Given the description of an element on the screen output the (x, y) to click on. 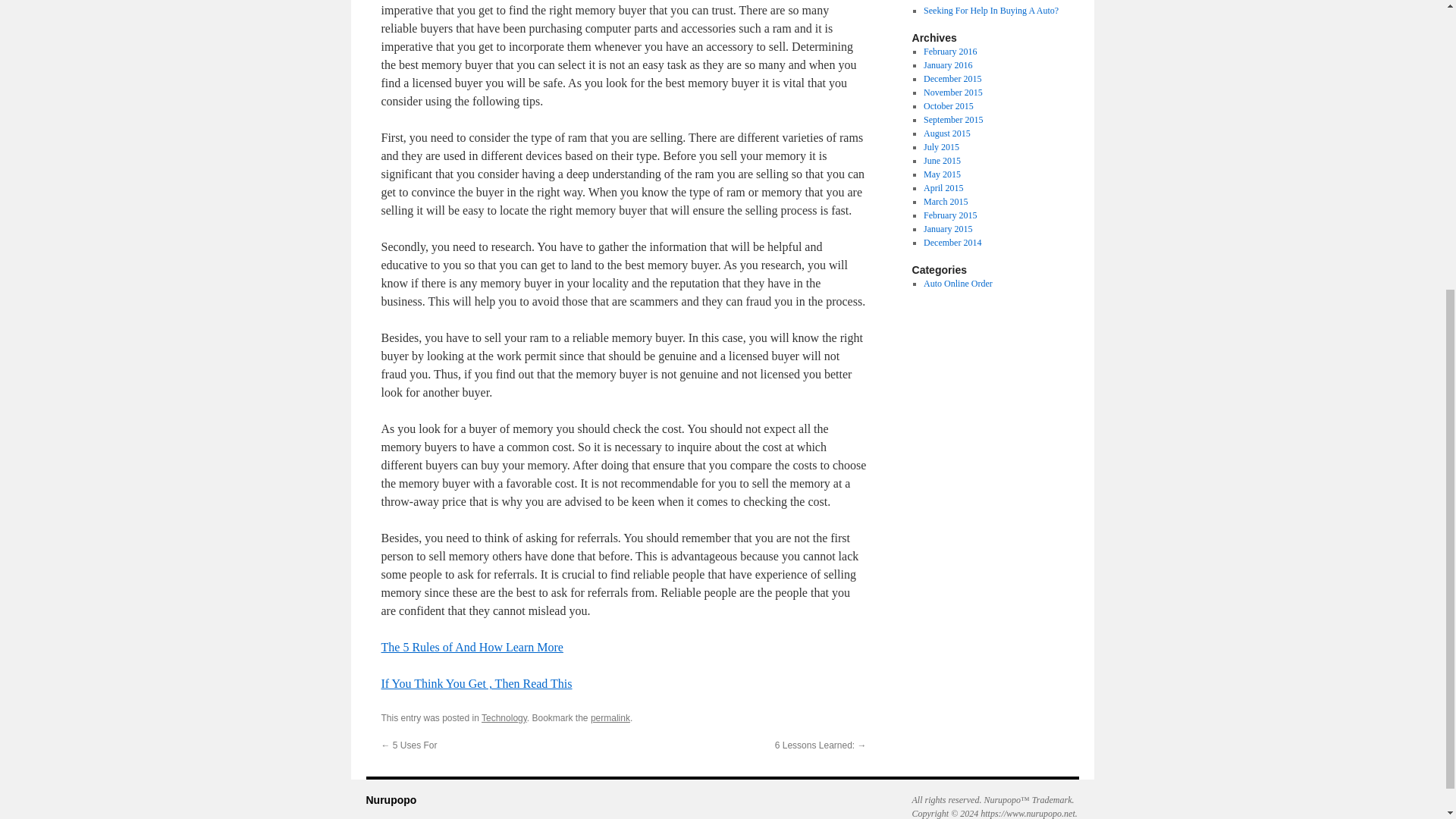
September 2015 (952, 119)
December 2015 (952, 78)
Permalink to Why No One Talks About  Anymore (610, 717)
March 2015 (945, 201)
Technology (504, 717)
February 2015 (949, 214)
Auto Online Order (957, 283)
Nurupopo (390, 799)
November 2015 (952, 91)
January 2015 (947, 228)
December 2014 (952, 242)
If You Think You Get , Then Read This (476, 683)
The 5 Rules of And How Learn More (471, 646)
October 2015 (948, 105)
April 2015 (942, 187)
